Given the description of an element on the screen output the (x, y) to click on. 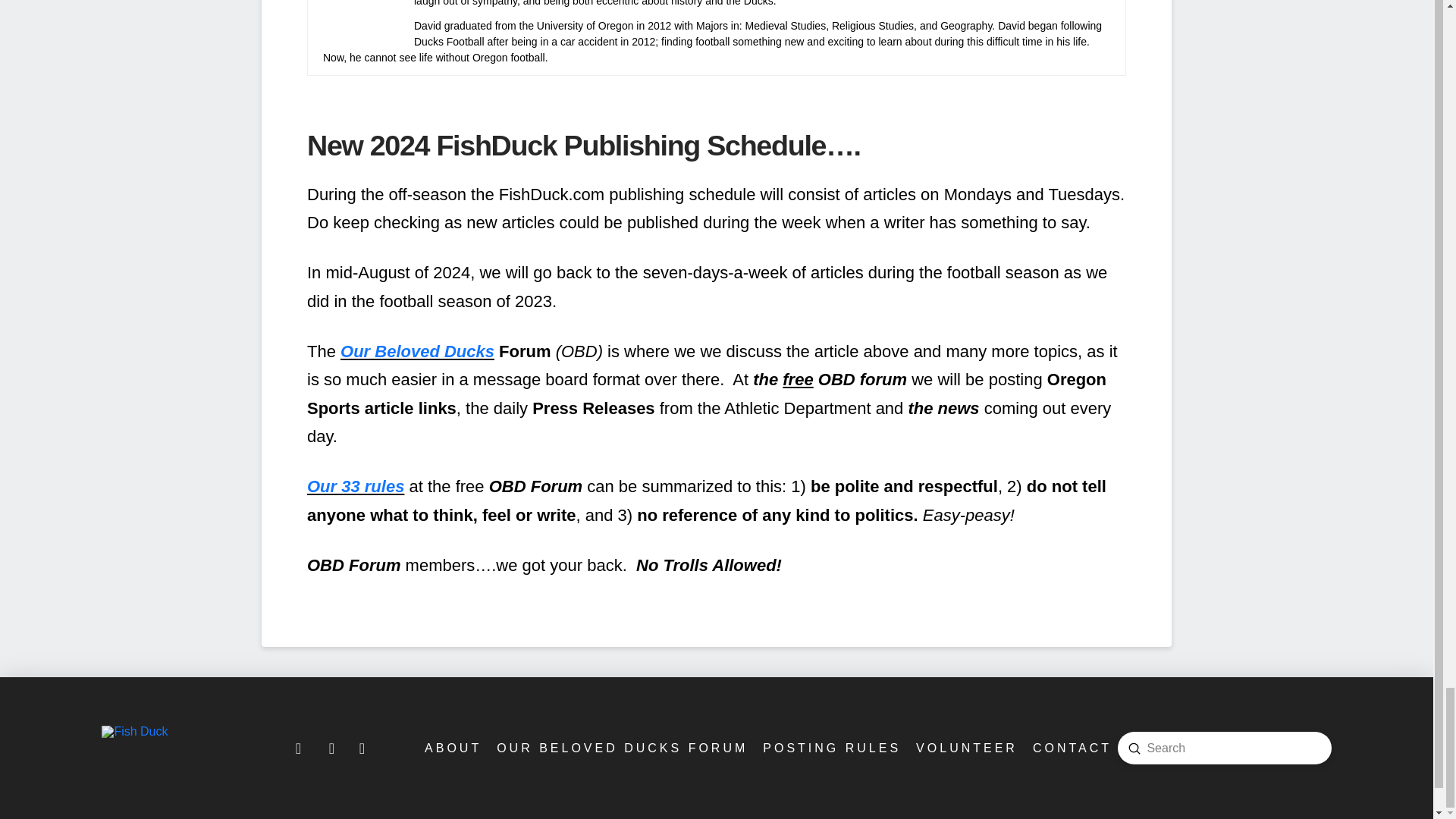
Commenting Rules (830, 748)
CONTACT (1070, 748)
About (450, 748)
Our 33 rules (355, 486)
Submit (1134, 748)
OUR BELOVED DUCKS FORUM (620, 748)
VOLUNTEER (965, 748)
Volunteer (965, 748)
ABOUT (450, 748)
Our Beloved Ducks (417, 351)
POSTING RULES (830, 748)
